Given the description of an element on the screen output the (x, y) to click on. 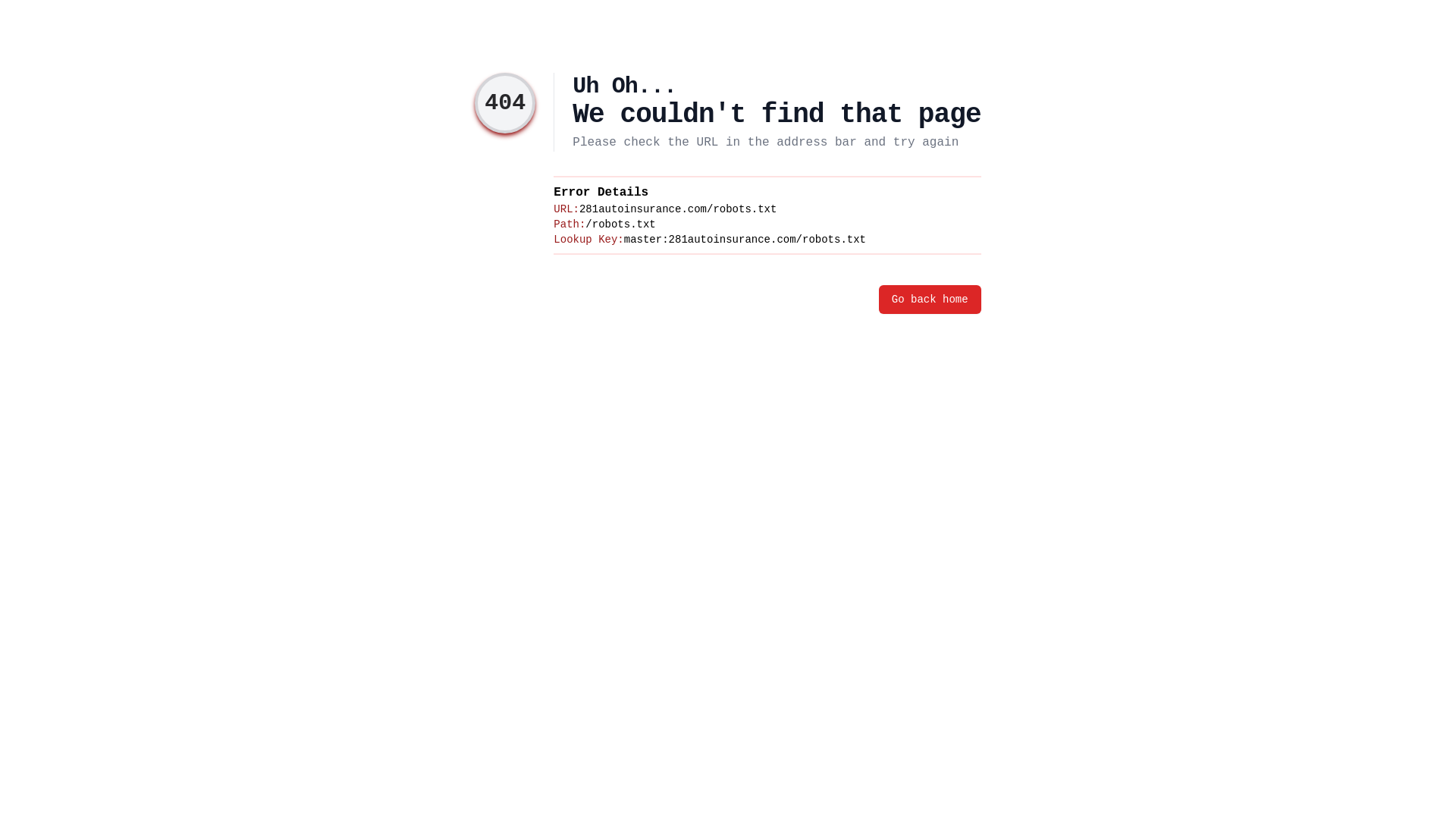
Go back home Element type: text (929, 299)
